Given the description of an element on the screen output the (x, y) to click on. 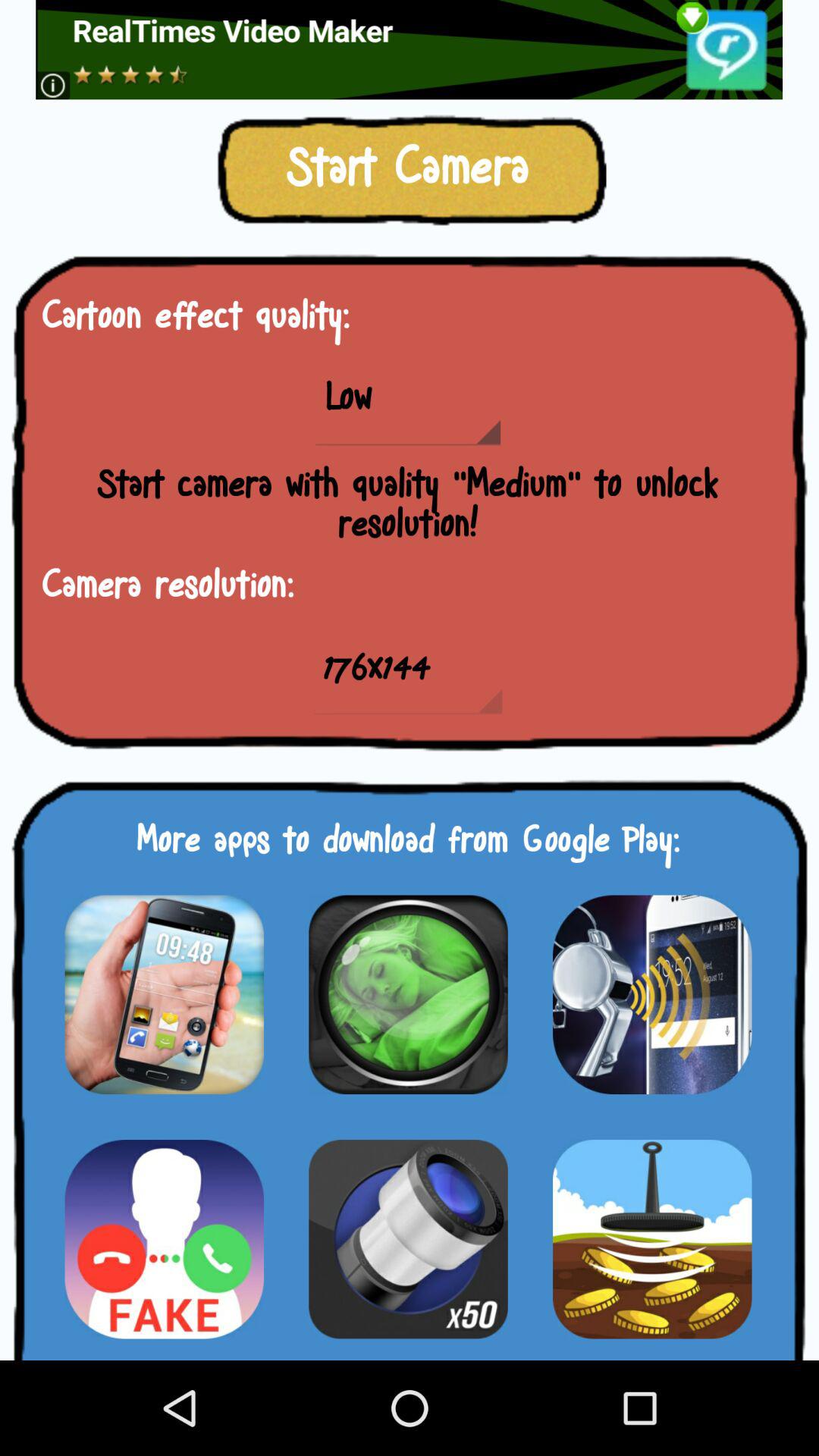
download app (164, 994)
